Given the description of an element on the screen output the (x, y) to click on. 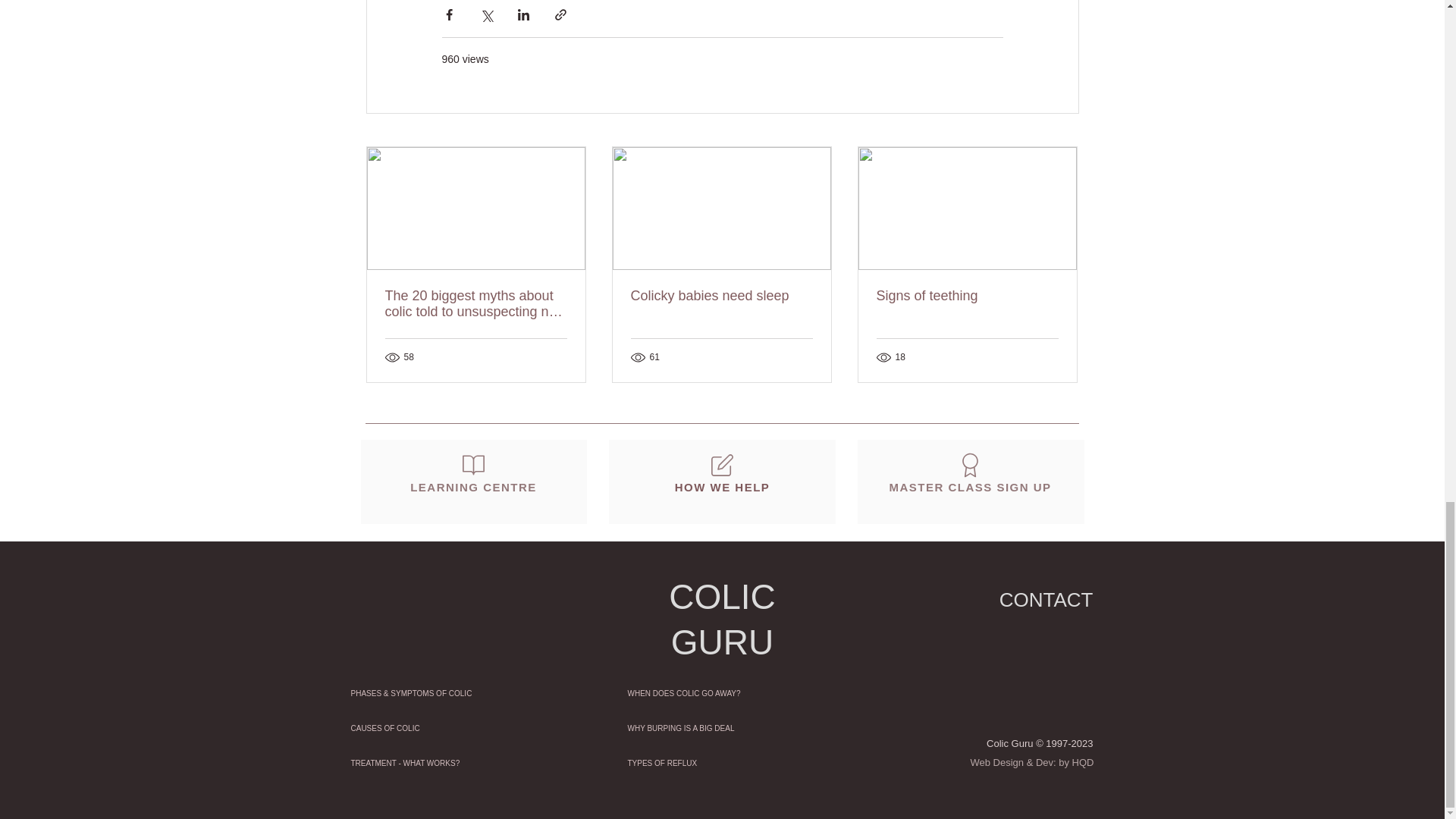
CONTACT (1045, 599)
CAUSES OF COLIC (444, 728)
HOW WE HELP (722, 470)
TREATMENT - WHAT WORKS? (444, 763)
Signs of teething (967, 295)
LEARNING CENTRE (473, 470)
Colicky babies need sleep (721, 295)
WHY BURPING IS A BIG DEAL (721, 728)
MASTER CLASS SIGN UP (969, 470)
